Given the description of an element on the screen output the (x, y) to click on. 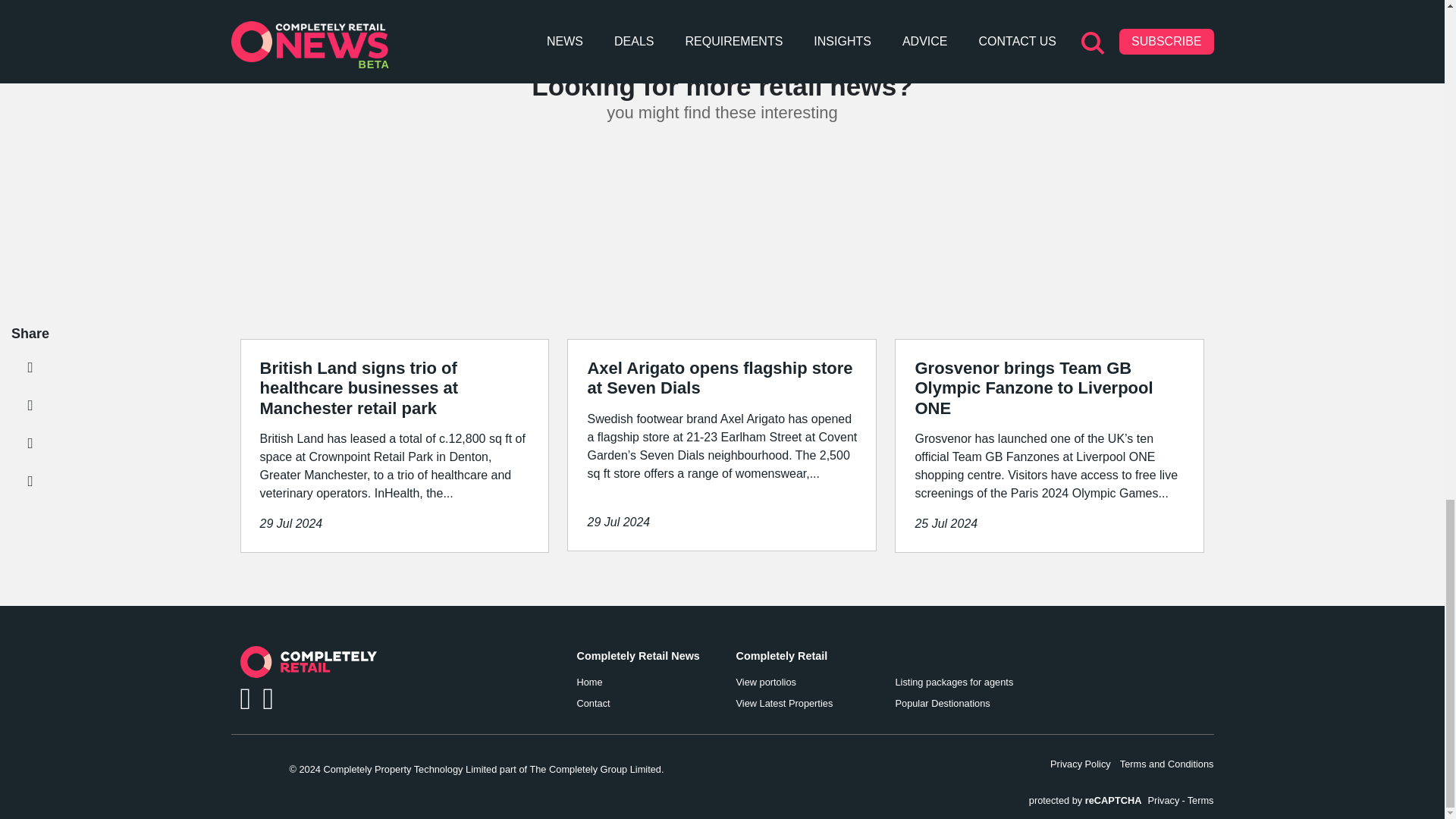
Listing packages for agents (965, 681)
Contact (646, 703)
Terms (1201, 800)
Privacy Policy (1079, 763)
Next (971, 6)
Privacy (1163, 800)
Prev (472, 6)
Popular Destionations (965, 703)
View portolios (805, 681)
Terms and Conditions (1166, 763)
Home (646, 681)
View Latest Properties (805, 703)
